Given the description of an element on the screen output the (x, y) to click on. 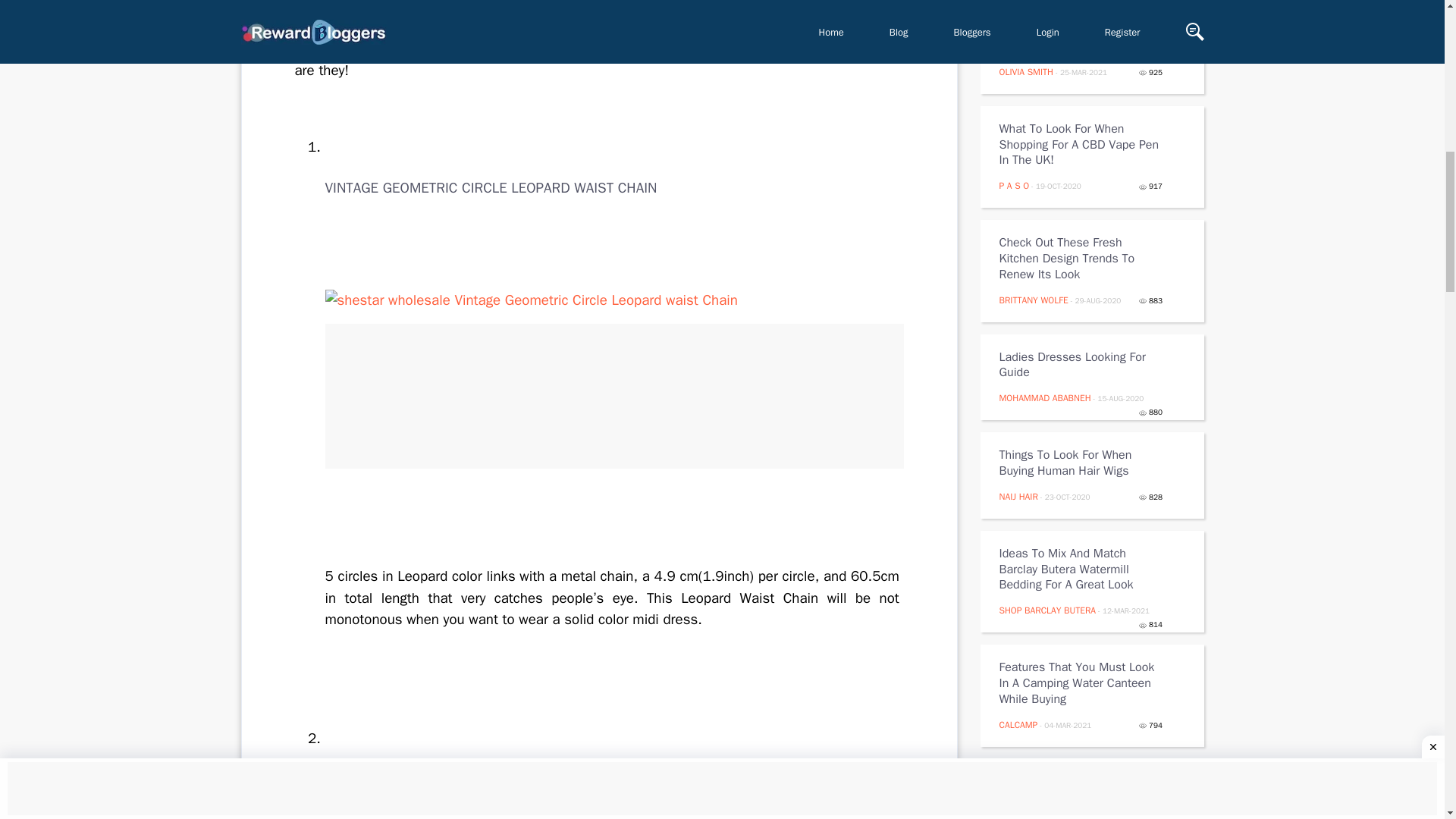
Ladies Dresses Looking For Guide (1080, 365)
BRITTANY WOLFE (1033, 300)
SHOP BARCLAY BUTERA (1047, 610)
waist chain belts (519, 49)
What To Look For When Shopping For A CBD Vape Pen In The UK! (1080, 144)
P A S O (1013, 185)
NAIJ HAIR (1018, 496)
